Given the description of an element on the screen output the (x, y) to click on. 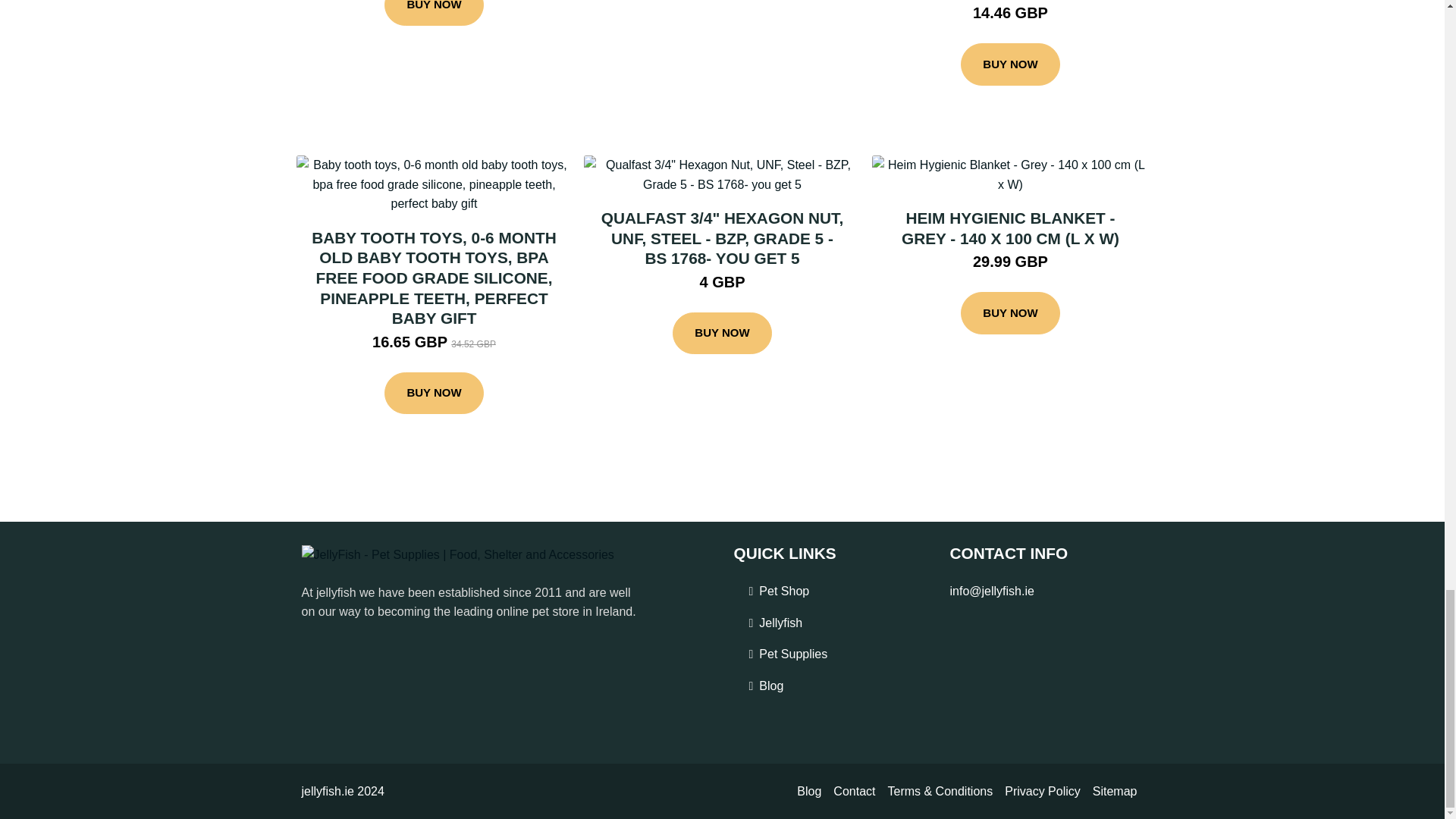
BUY NOW (433, 13)
